Given the description of an element on the screen output the (x, y) to click on. 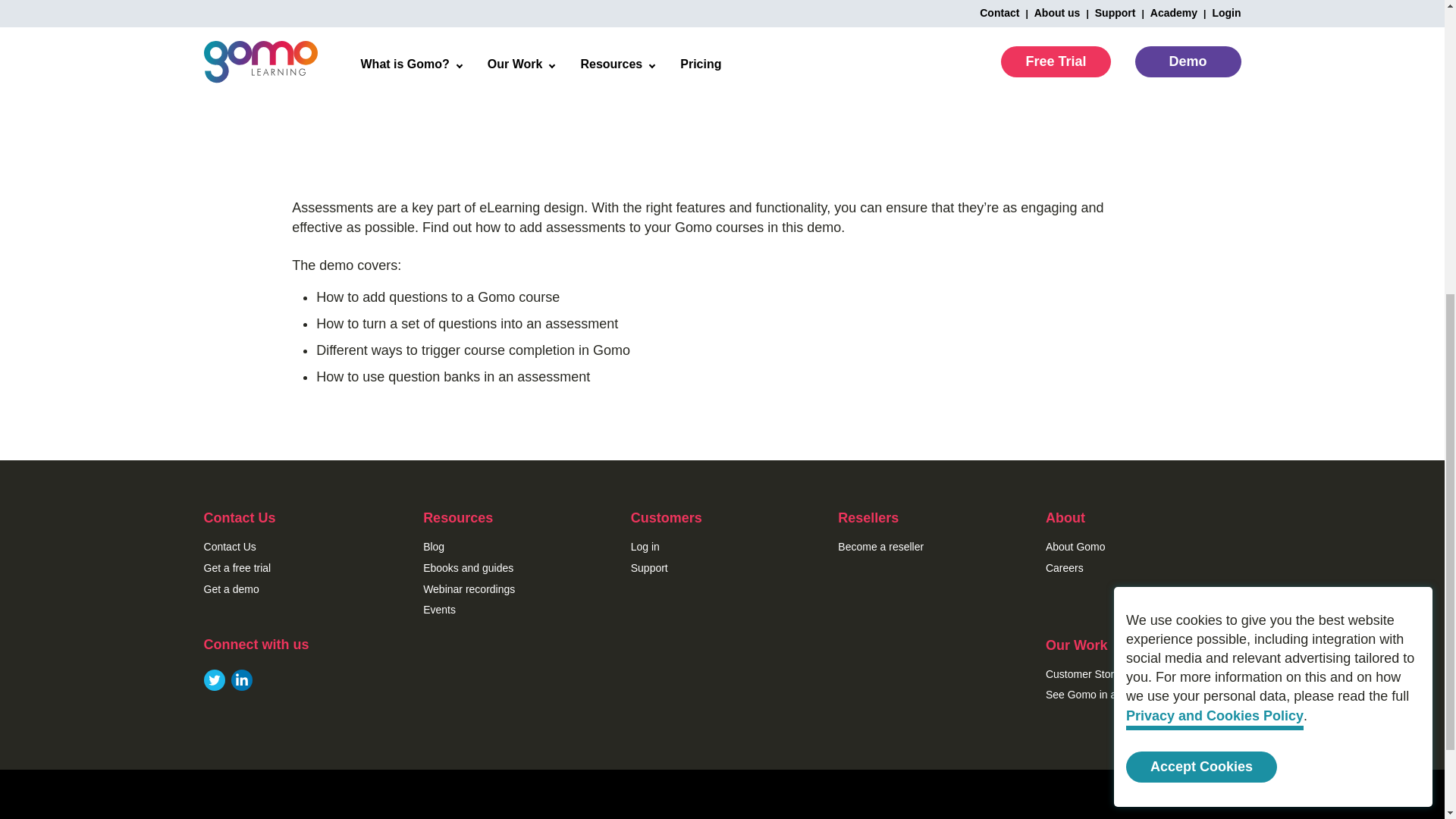
Get a free trial (236, 567)
Blog (433, 546)
Contact Us (229, 546)
Get a demo (231, 588)
